Given the description of an element on the screen output the (x, y) to click on. 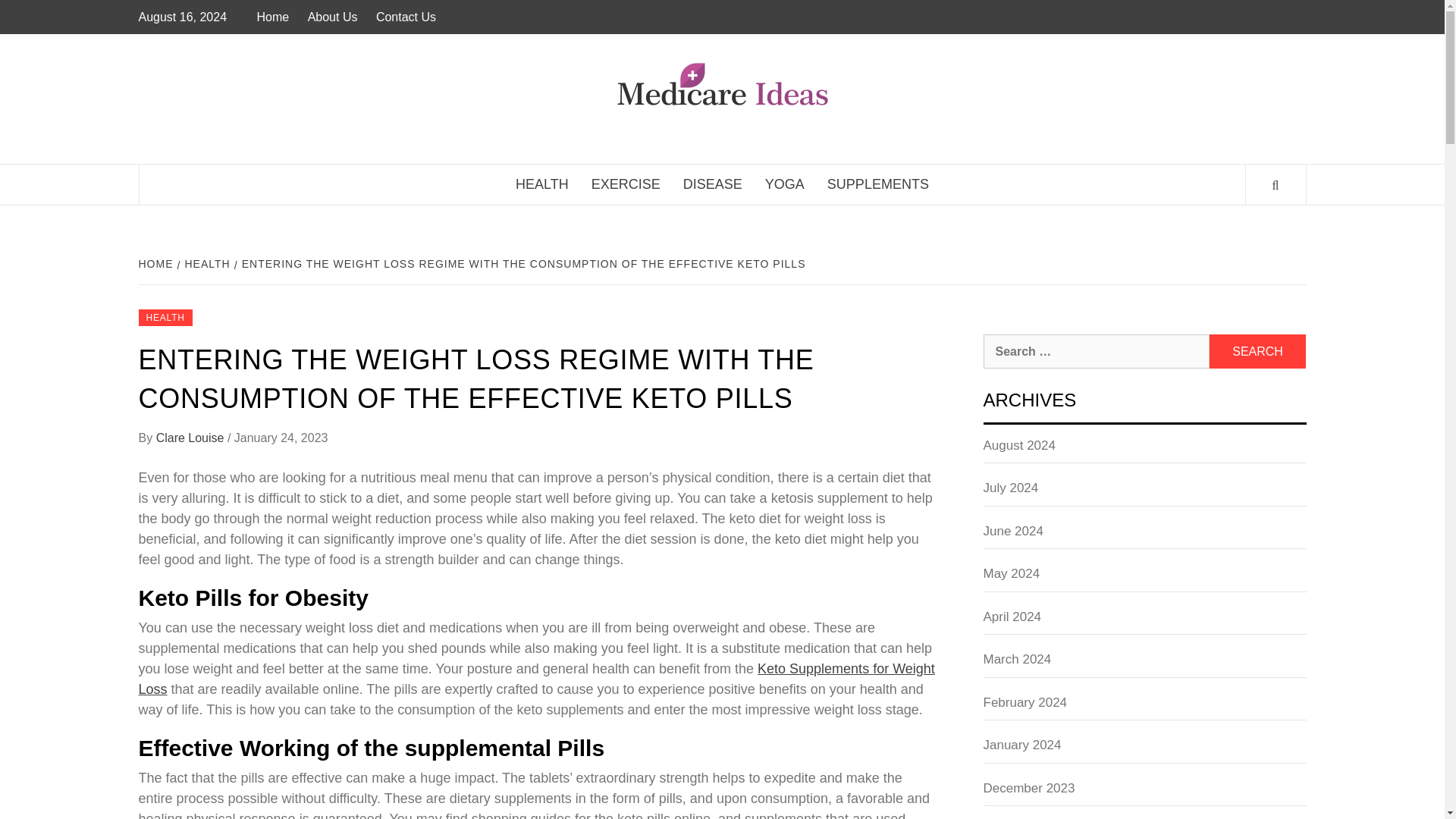
Search (1257, 351)
HEALTH (165, 317)
DISEASE (712, 184)
Clare Louise (191, 437)
May 2024 (1144, 578)
About Us (332, 17)
Search (1257, 351)
Search (1257, 351)
Contact Us (406, 17)
